Given the description of an element on the screen output the (x, y) to click on. 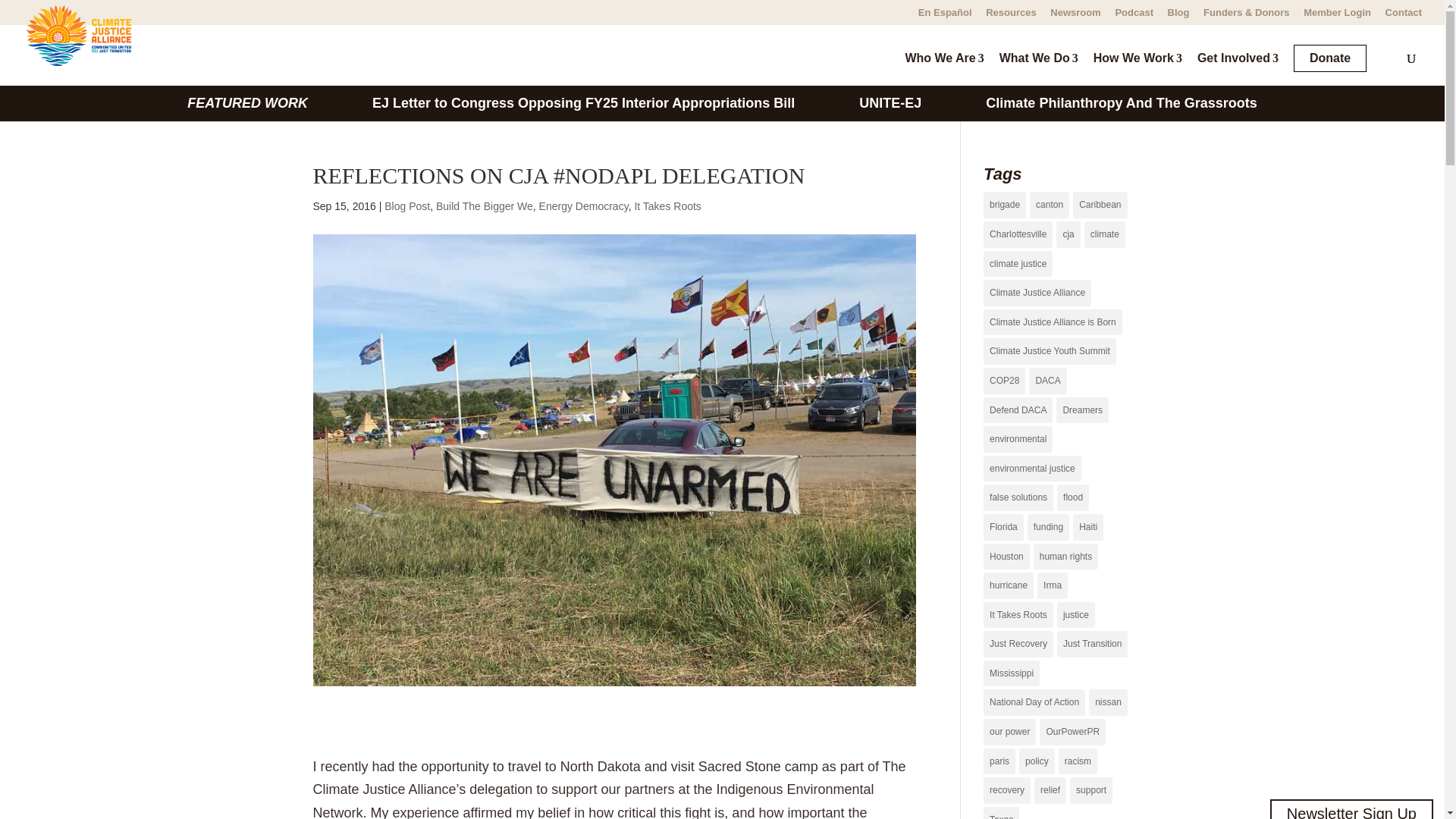
Resources (1010, 16)
Member Login (1337, 16)
Newsroom (1074, 16)
Who We Are (941, 68)
Podcast (1134, 16)
What We Do (1035, 68)
How We Work (1134, 68)
Blog (1178, 16)
Contact (1404, 16)
Get Involved (1234, 68)
